Given the description of an element on the screen output the (x, y) to click on. 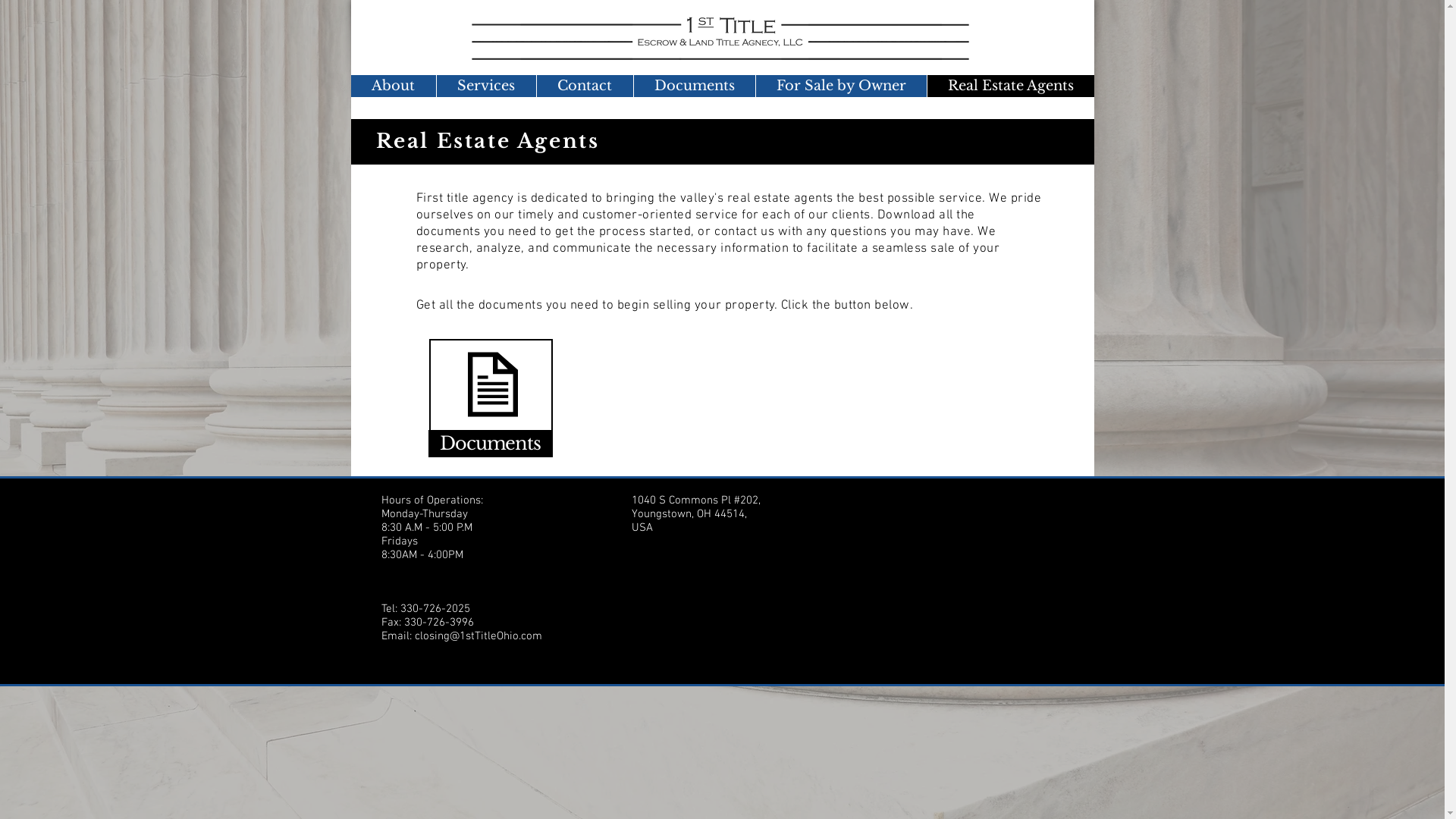
Services Element type: text (485, 86)
Documents Element type: text (693, 86)
Real Estate Agents Element type: text (1010, 86)
For Sale by Owner Element type: text (840, 86)
Google Maps Element type: hover (945, 566)
Contact Element type: text (583, 86)
330-726-2025 Element type: text (435, 608)
About Element type: text (392, 86)
closing@1stTitleOhio.com Element type: text (477, 636)
